Given the description of an element on the screen output the (x, y) to click on. 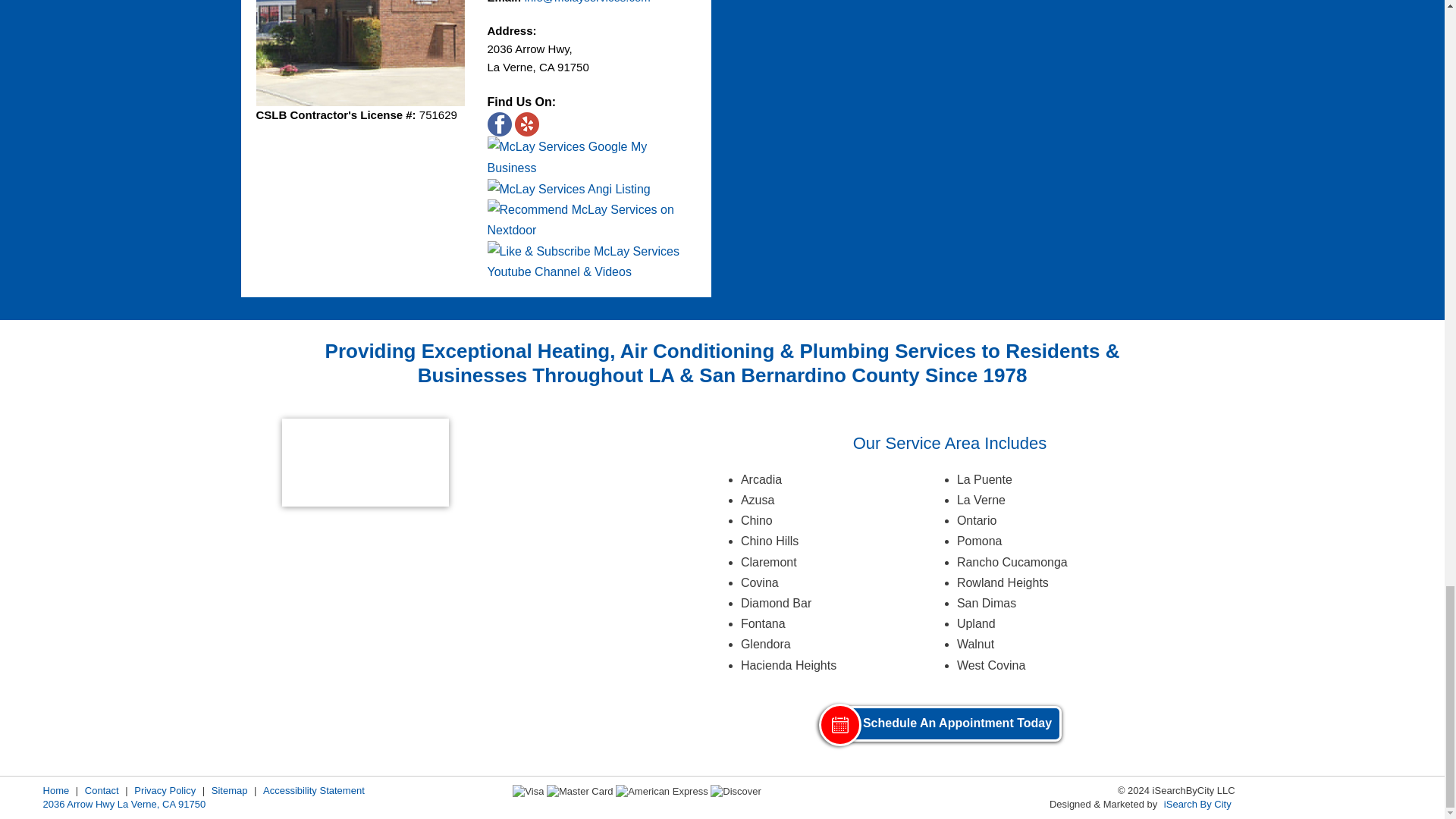
Post Reviews on Yelp Listing (526, 124)
Buy with AmEx (661, 790)
Accept Mastercard (579, 790)
Discover Payment (735, 790)
Pay By Visa (527, 790)
McLay Services Google Maps (590, 156)
Like Us on Facebook (498, 124)
